Given the description of an element on the screen output the (x, y) to click on. 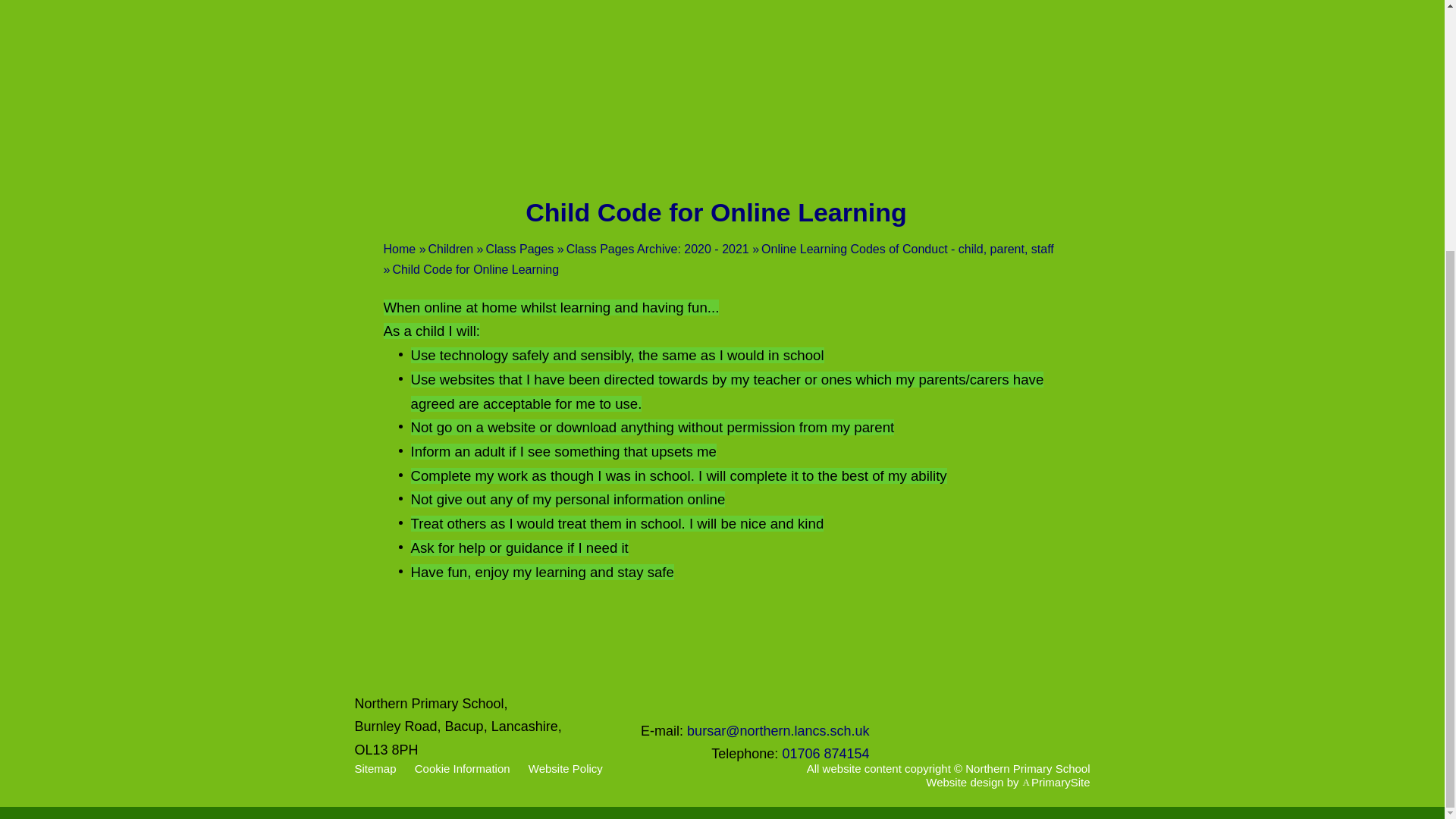
Key Information (618, 75)
Children (451, 248)
Class Pages (518, 248)
Home (400, 248)
Class Pages Archive: 2020 - 2021 (657, 248)
Home (407, 75)
Child Code for Online Learning (475, 269)
Online Learning Codes of Conduct - child, parent, staff (907, 248)
About Us (506, 75)
